Given the description of an element on the screen output the (x, y) to click on. 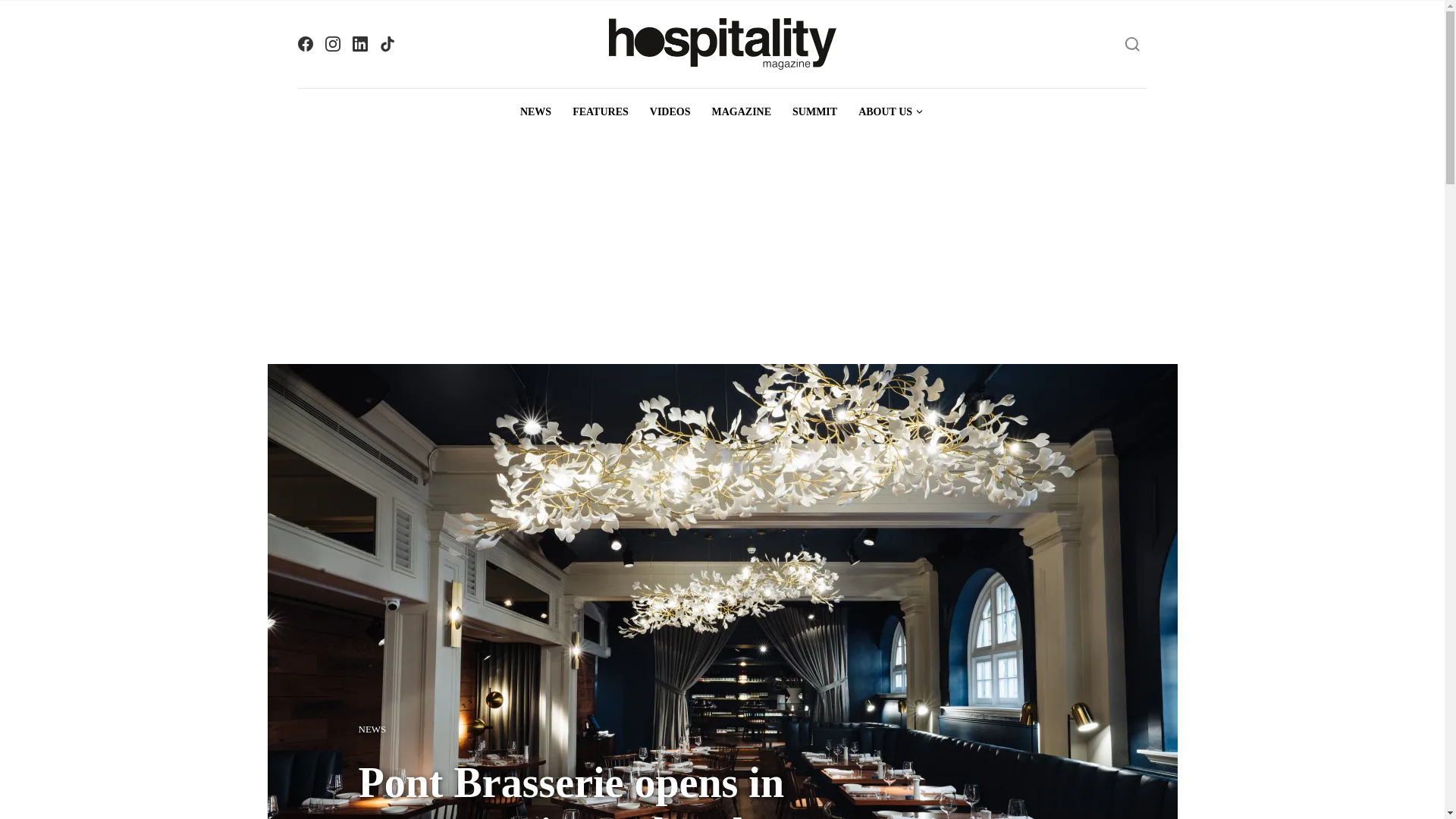
FEATURES (600, 111)
NEWS (372, 729)
MAGAZINE (740, 111)
ABOUT US (890, 111)
VIDEOS (670, 111)
SUMMIT (814, 111)
NEWS (535, 111)
View all posts in News (372, 729)
